Given the description of an element on the screen output the (x, y) to click on. 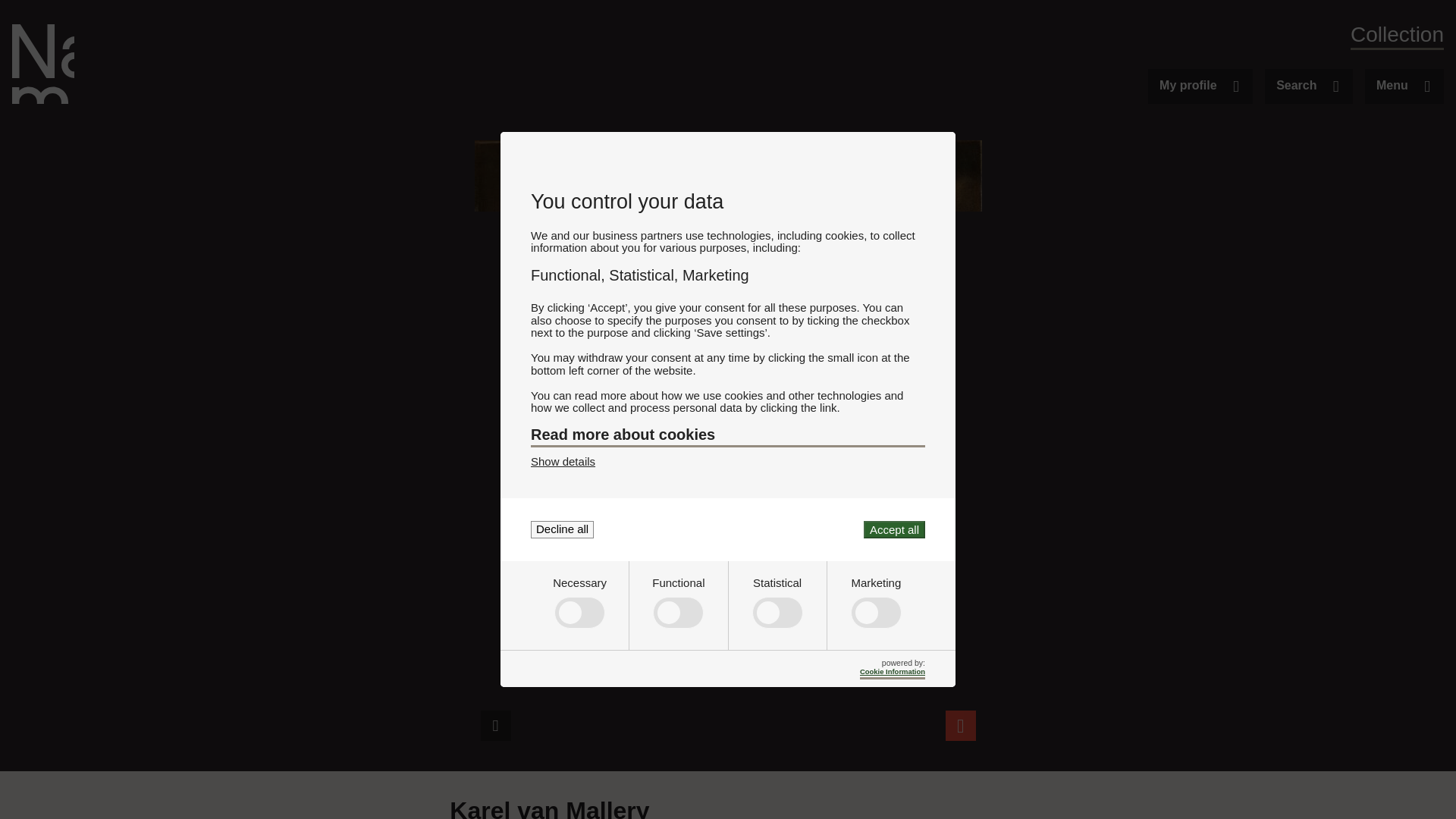
Read more about cookies (727, 436)
Show details (563, 461)
